Given the description of an element on the screen output the (x, y) to click on. 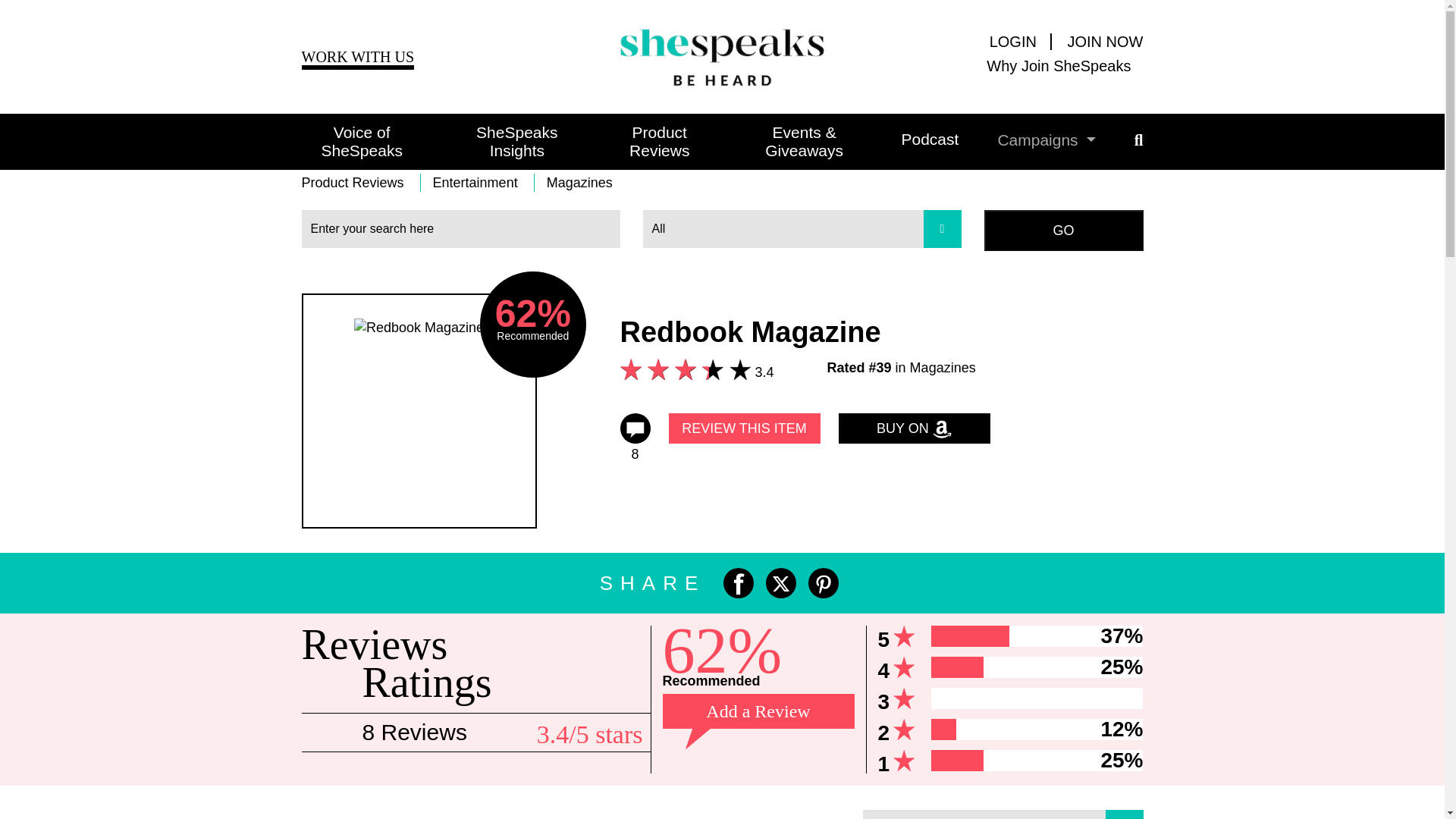
Product Reviews (640, 141)
Magazines (579, 182)
SheSpeaks Insights (497, 141)
BUY ON (914, 428)
Voice of SheSpeaks (361, 141)
Login (1020, 41)
Why Join SheSpeaks (1009, 65)
Voice of SheSpeaks (361, 141)
Podcast (910, 139)
Add a Review (758, 710)
WORK WITH US (357, 58)
add your comment (744, 428)
Search (1063, 229)
Why Join SheSpeaks (1009, 65)
Facebook (738, 583)
